Given the description of an element on the screen output the (x, y) to click on. 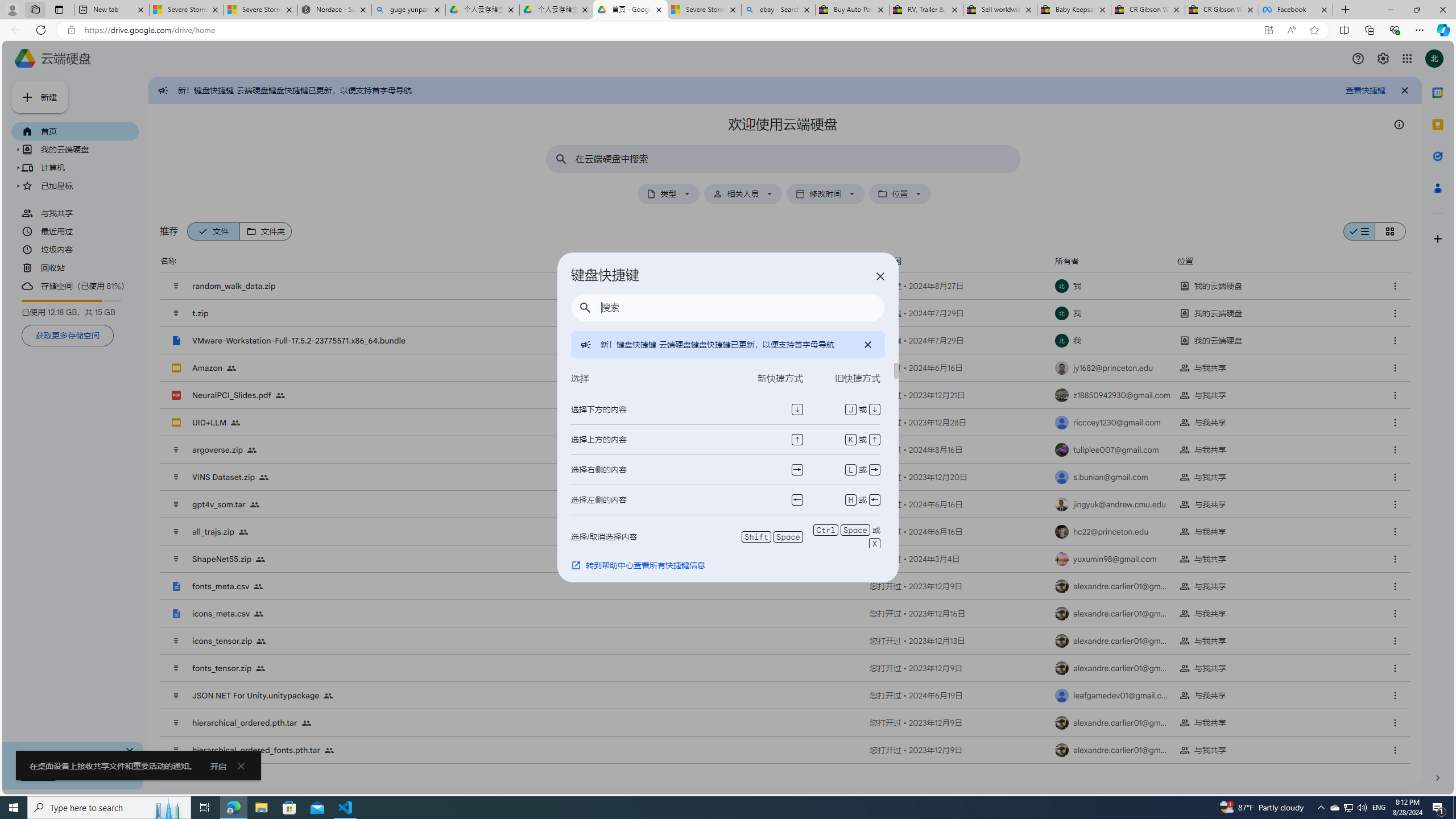
Baby Keepsakes & Announcements for sale | eBay (1073, 9)
guge yunpan - Search (407, 9)
ebay - Search (777, 9)
Sell worldwide with eBay (1000, 9)
Nordace - Summer Adventures 2024 (334, 9)
